Given the description of an element on the screen output the (x, y) to click on. 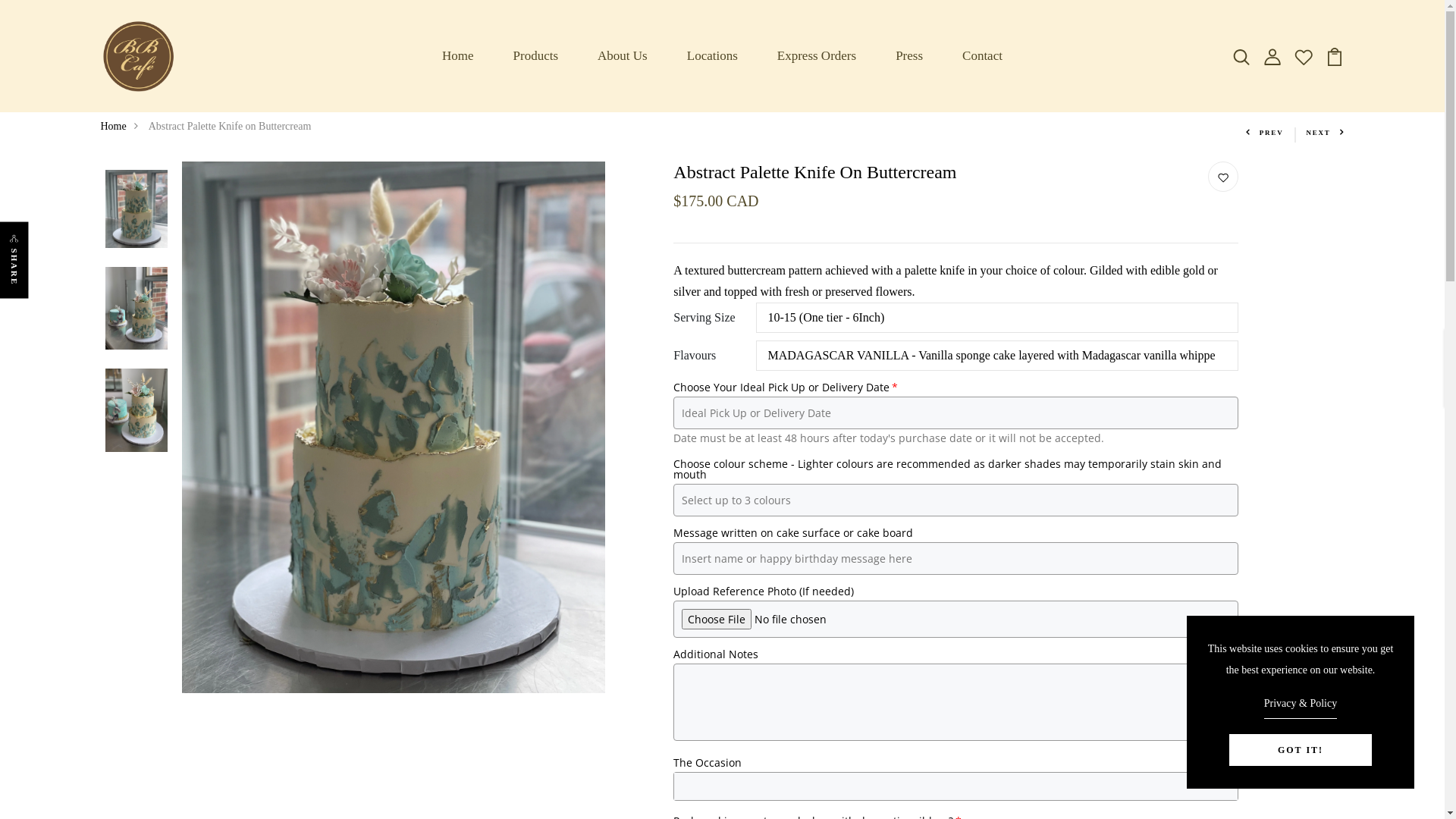
Contact Element type: text (982, 56)
image/svg+xml Element type: text (1303, 54)
NEXT Element type: text (1324, 132)
image/svg+xml Element type: text (1241, 54)
Home Element type: text (458, 56)
PREV Element type: text (1264, 132)
image/svg+xml Element type: text (1272, 54)
image/svg+xml Element type: text (1222, 177)
Locations Element type: text (711, 56)
About Us Element type: text (622, 56)
Products Element type: text (535, 56)
image/svg+xml Element type: text (1334, 54)
Express Orders Element type: text (816, 56)
GOT IT! Element type: text (1300, 749)
Privacy & Policy Element type: text (1300, 705)
Home Element type: text (122, 125)
Log In Element type: text (722, 575)
Press Element type: text (908, 56)
